Given the description of an element on the screen output the (x, y) to click on. 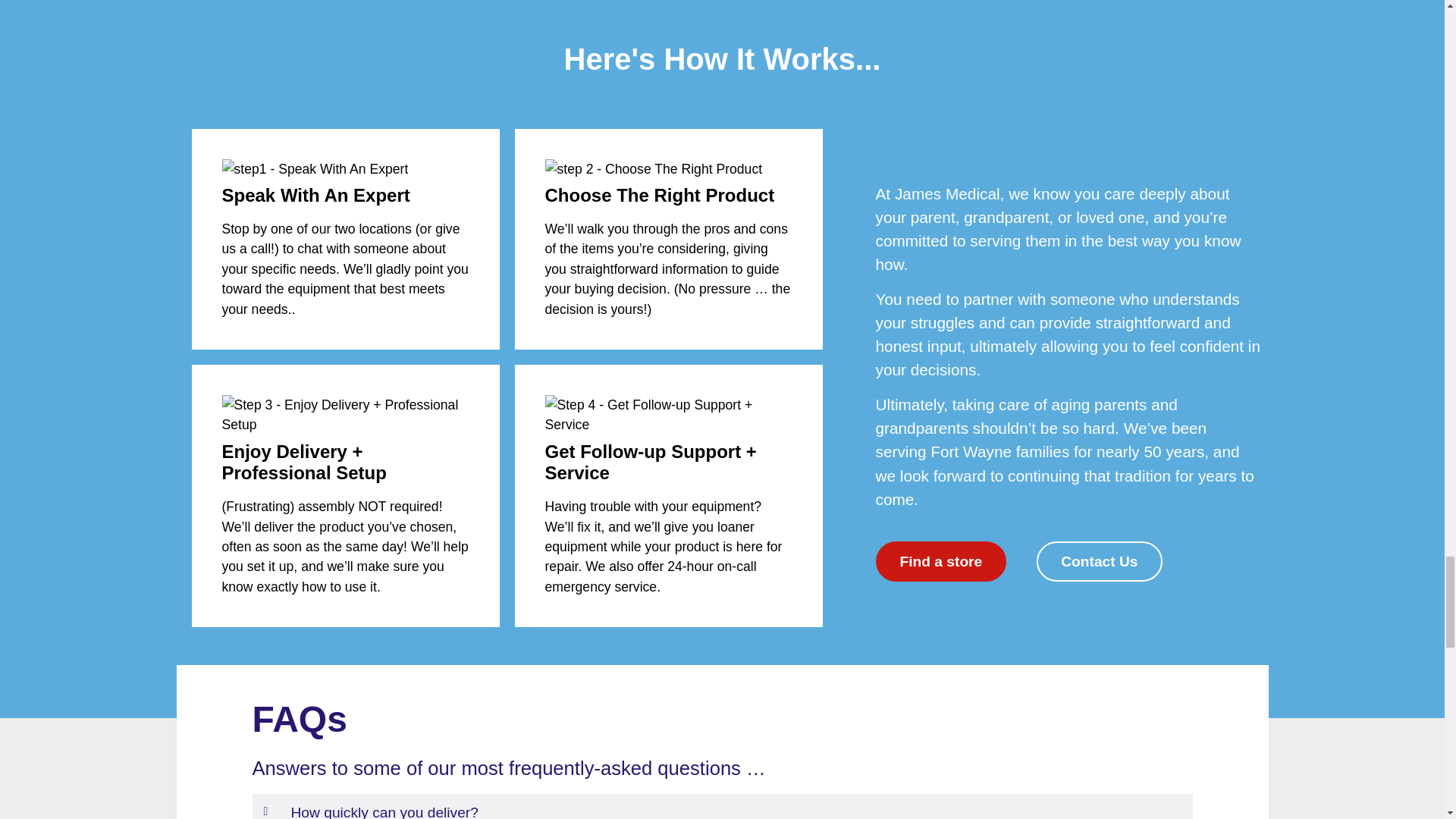
Find a store (940, 561)
Contact Us (1098, 561)
How quickly can you deliver? (385, 811)
